Given the description of an element on the screen output the (x, y) to click on. 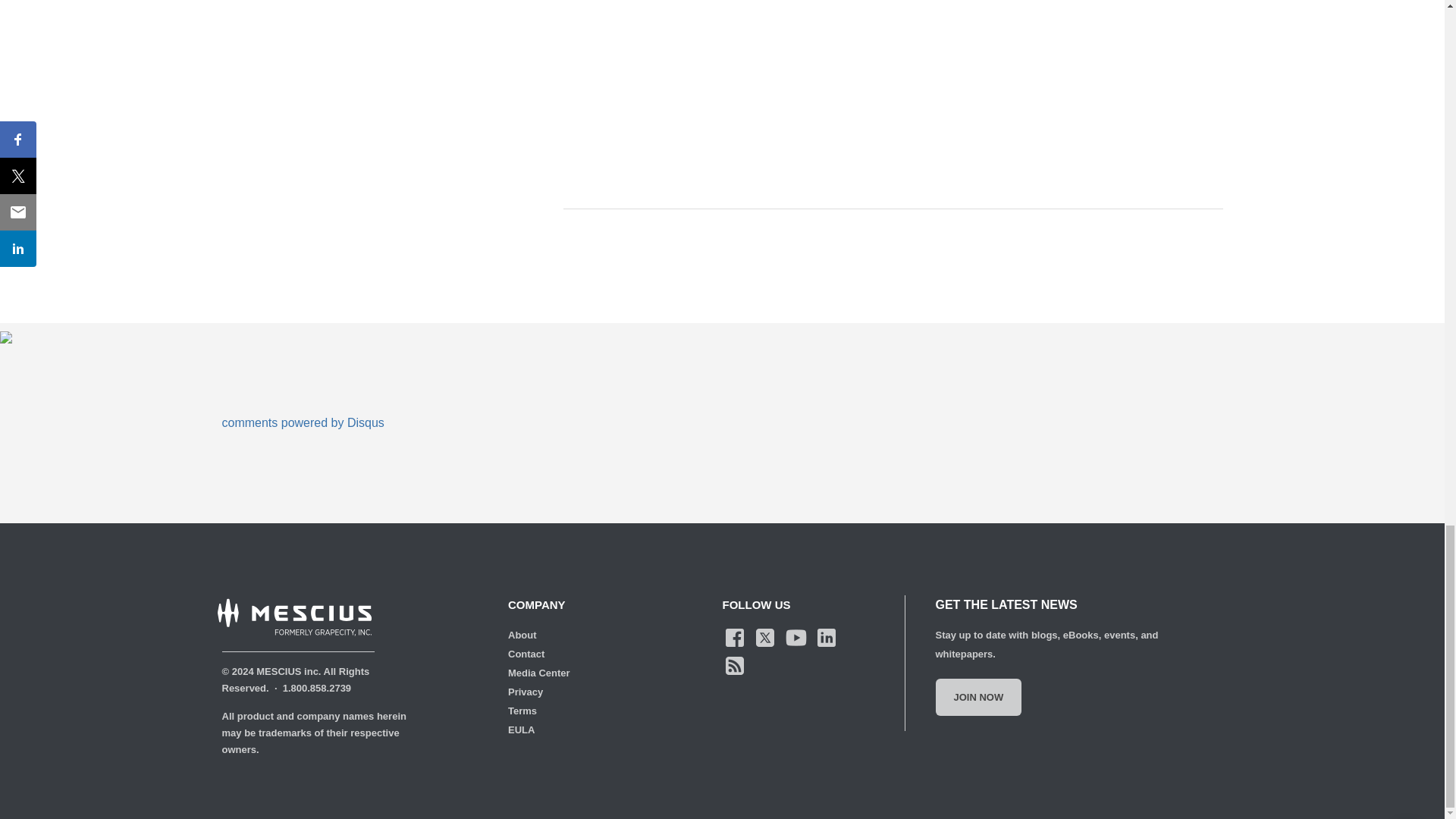
Latest blogs (733, 665)
YouTube video player (774, 92)
